Given the description of an element on the screen output the (x, y) to click on. 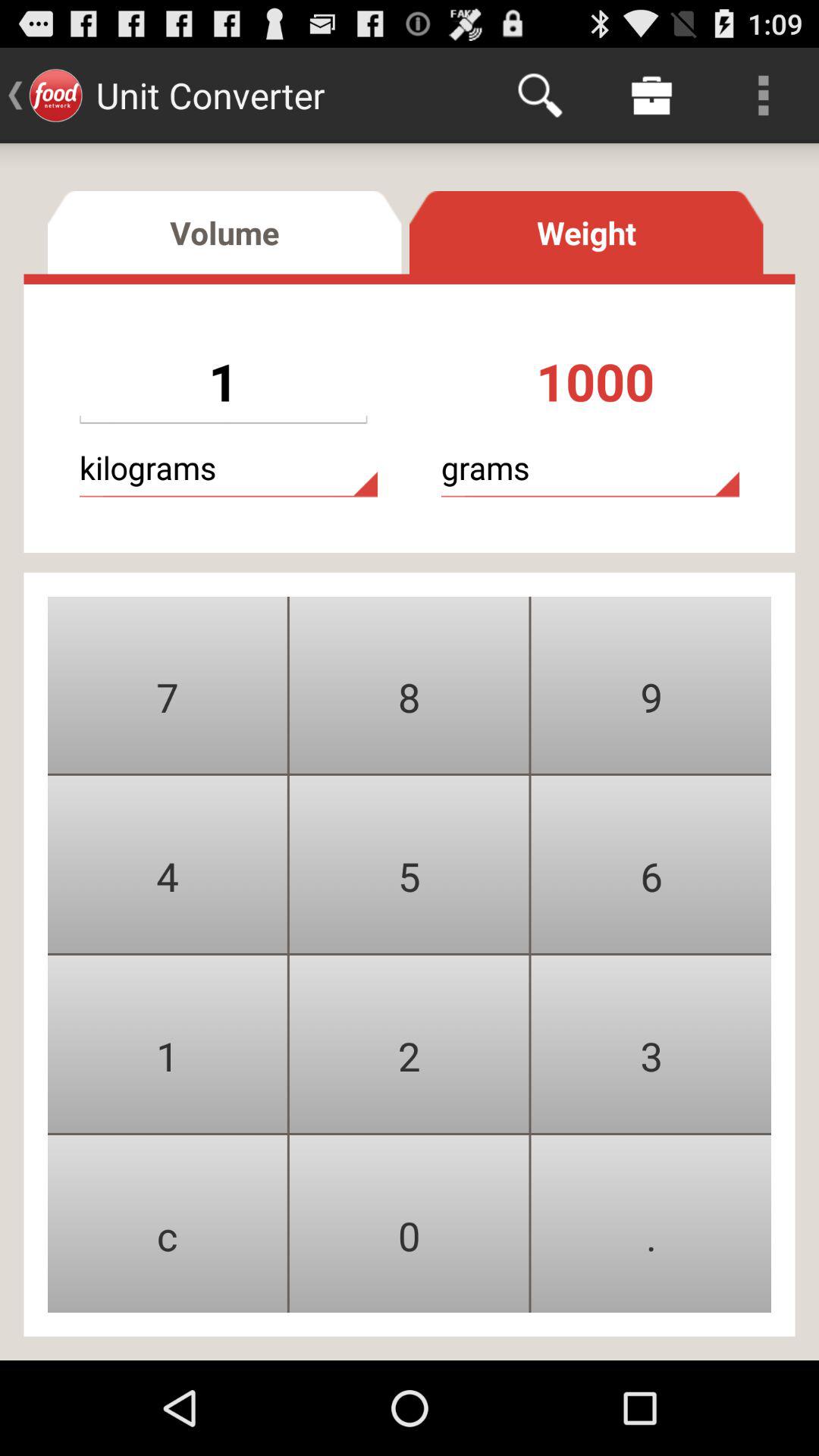
click on button between c and  (409, 1224)
click on the number 6 (651, 864)
select the option kilograms (228, 467)
select the dropbox below volume (223, 380)
1 (167, 1043)
click on number 2 (409, 1043)
